Given the description of an element on the screen output the (x, y) to click on. 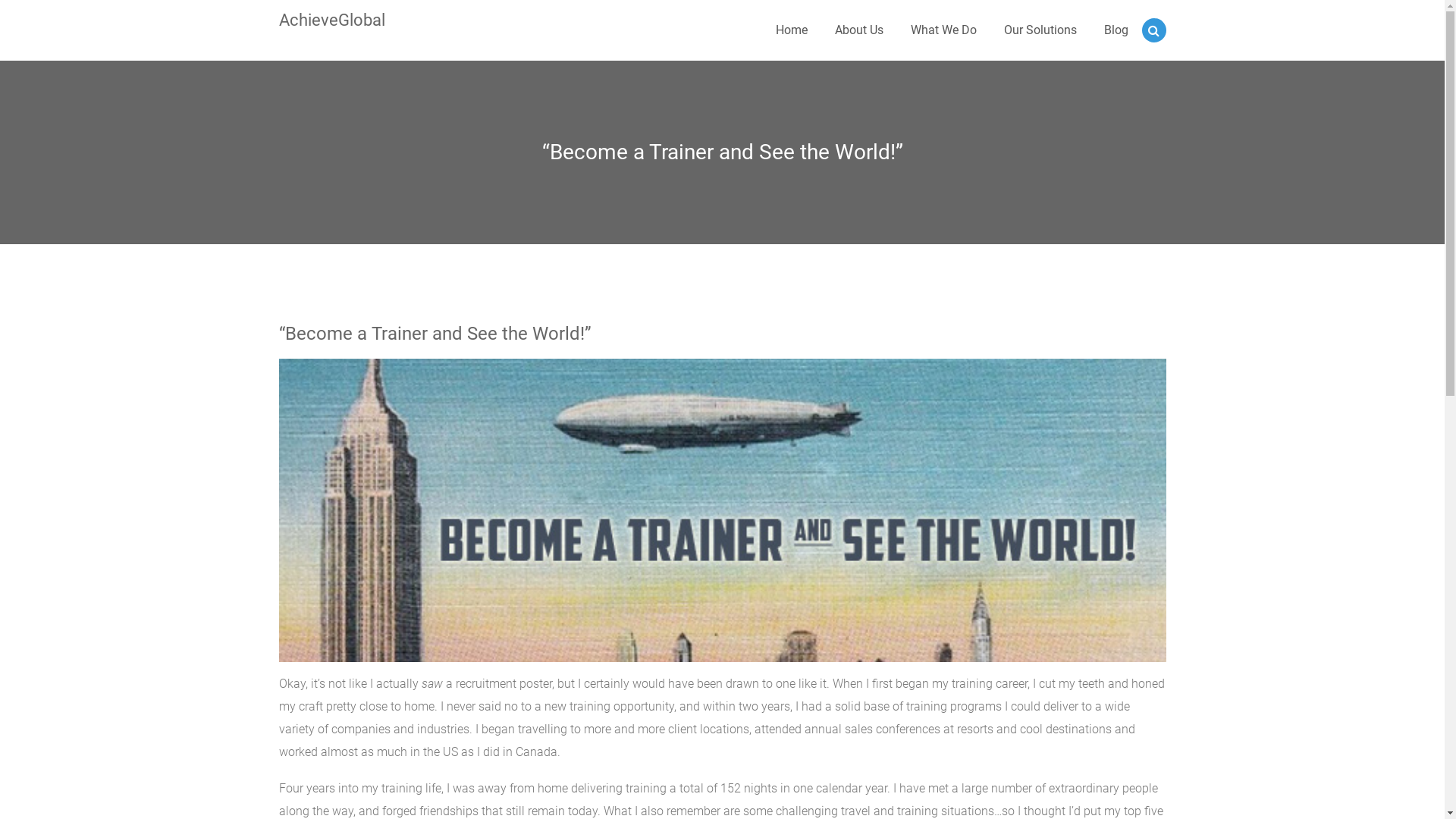
Blog Element type: text (1116, 30)
AchieveGlobal Element type: text (332, 19)
About Us Element type: text (858, 30)
Our Solutions Element type: text (1040, 30)
What We Do Element type: text (942, 30)
Home Element type: text (790, 30)
